Given the description of an element on the screen output the (x, y) to click on. 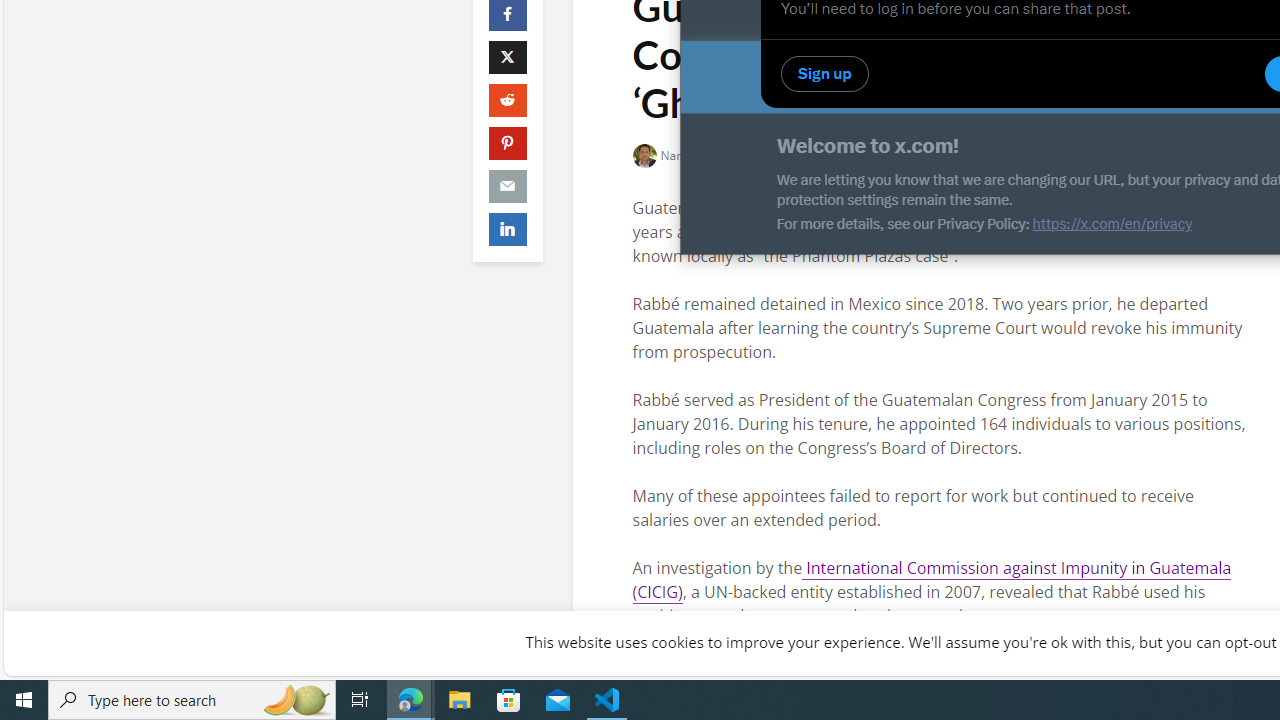
Microsoft Edge - 2 running windows (411, 699)
Log in (1206, 77)
https://x.com/en/privacy (1111, 223)
